Given the description of an element on the screen output the (x, y) to click on. 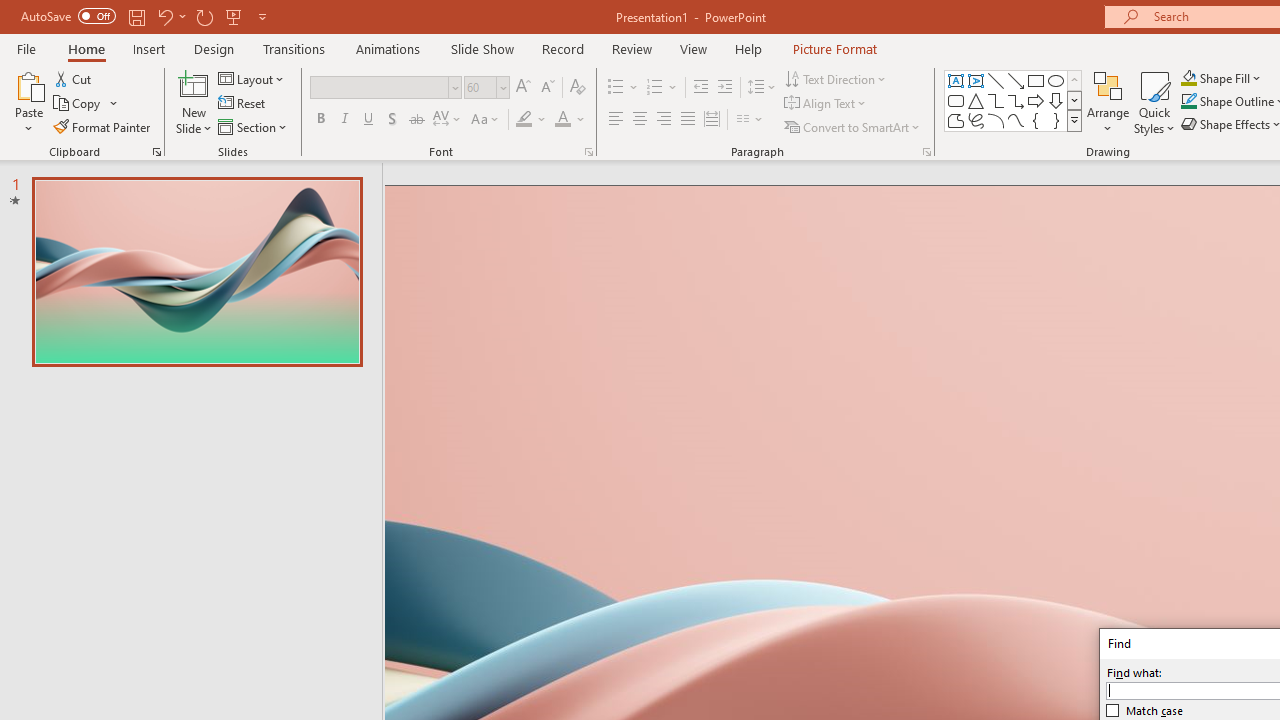
Picture Format (834, 48)
Shadow (392, 119)
Decrease Indent (700, 87)
Decrease Font Size (547, 87)
Italic (344, 119)
